Given the description of an element on the screen output the (x, y) to click on. 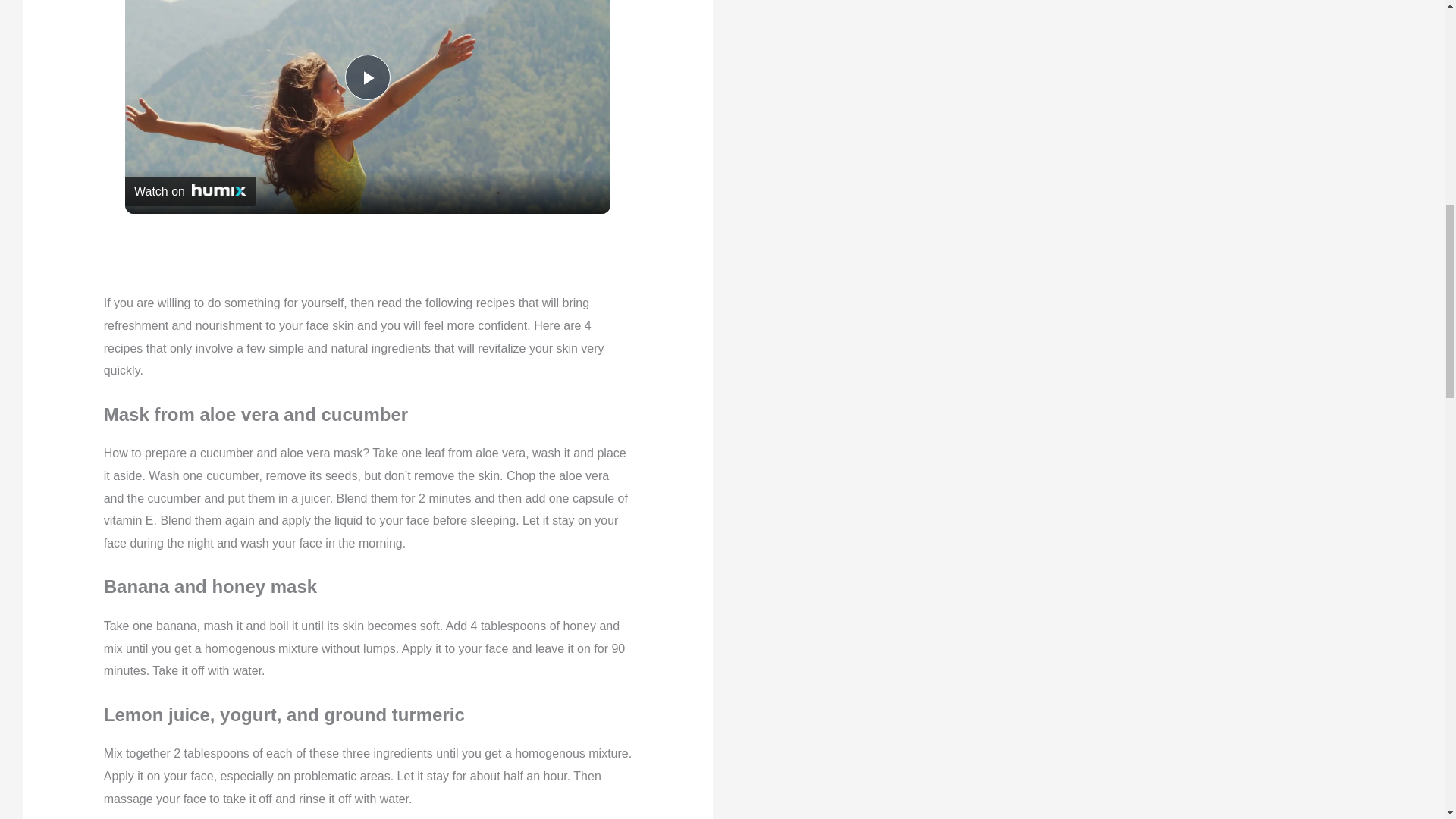
Play Video (367, 76)
Watch on (190, 190)
Play Video (367, 76)
